Given the description of an element on the screen output the (x, y) to click on. 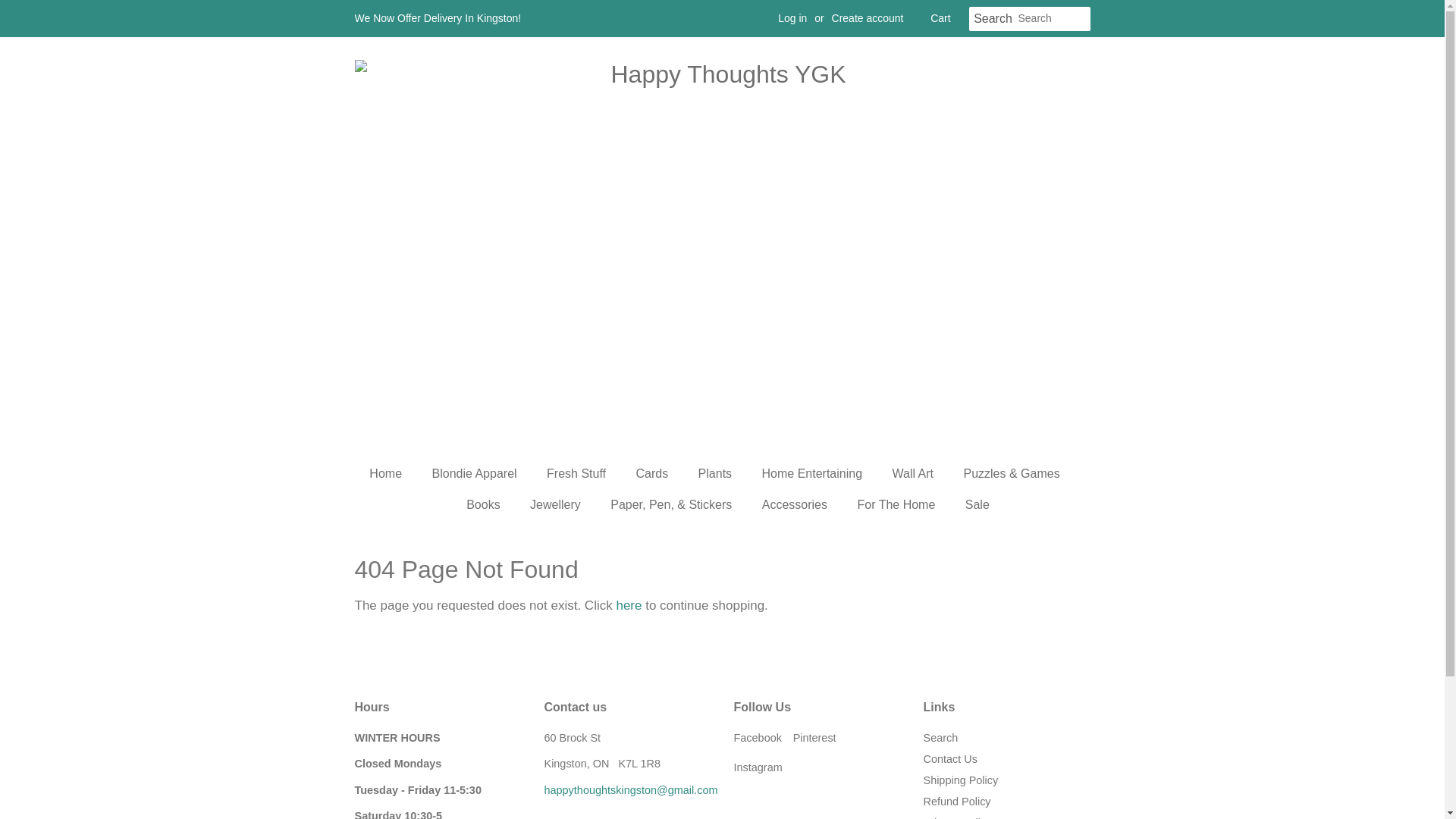
Log in (791, 18)
Create account (867, 18)
Happy Thoughts YGK on Pinterest (814, 737)
Cart (940, 18)
We Now Offer Delivery In Kingston! (438, 18)
Happy Thoughts YGK on Facebook (757, 737)
Happy Thoughts YGK on Instagram (758, 767)
Contact Us (630, 789)
Search (993, 18)
